Given the description of an element on the screen output the (x, y) to click on. 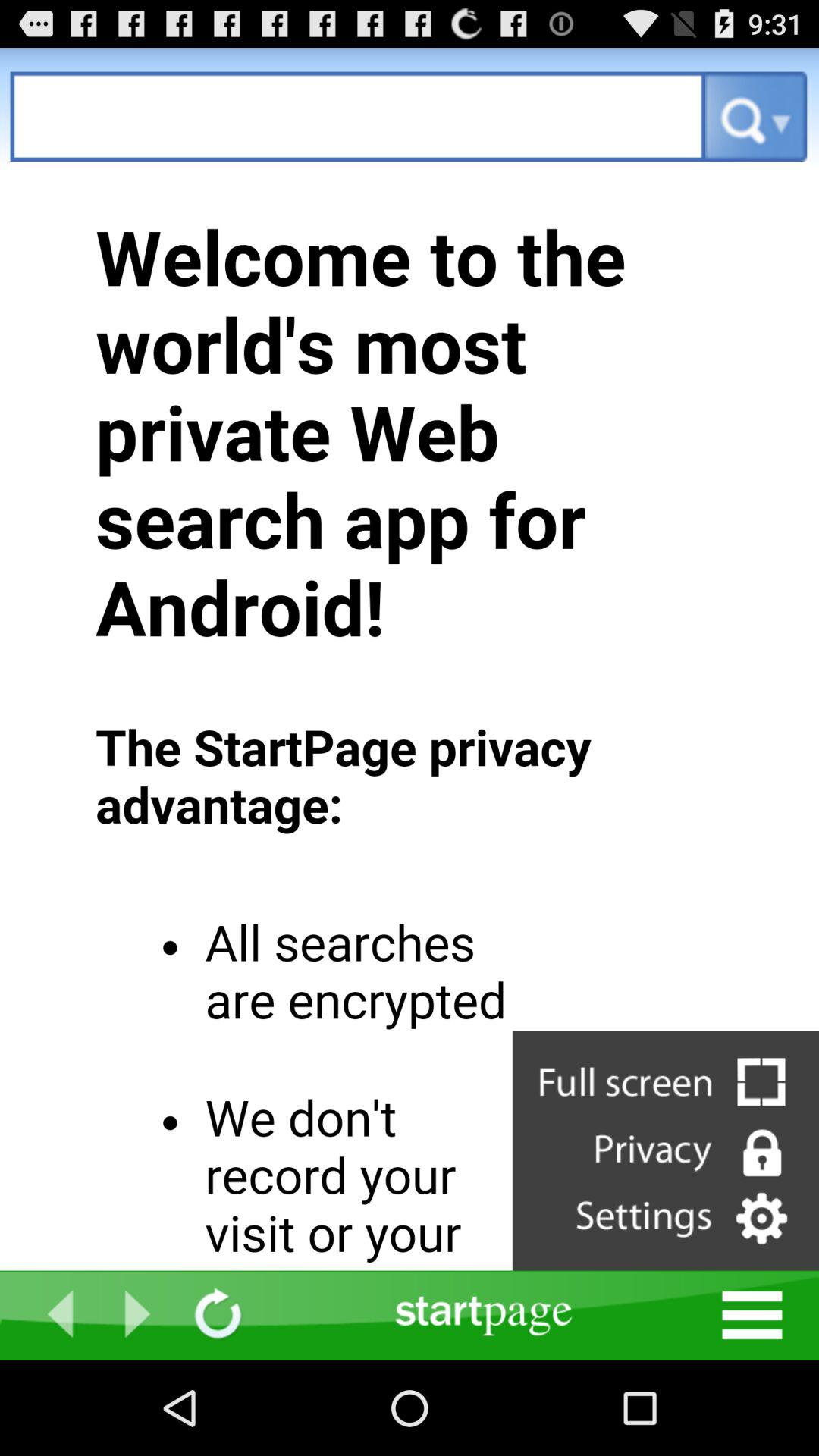
search the option (357, 116)
